Given the description of an element on the screen output the (x, y) to click on. 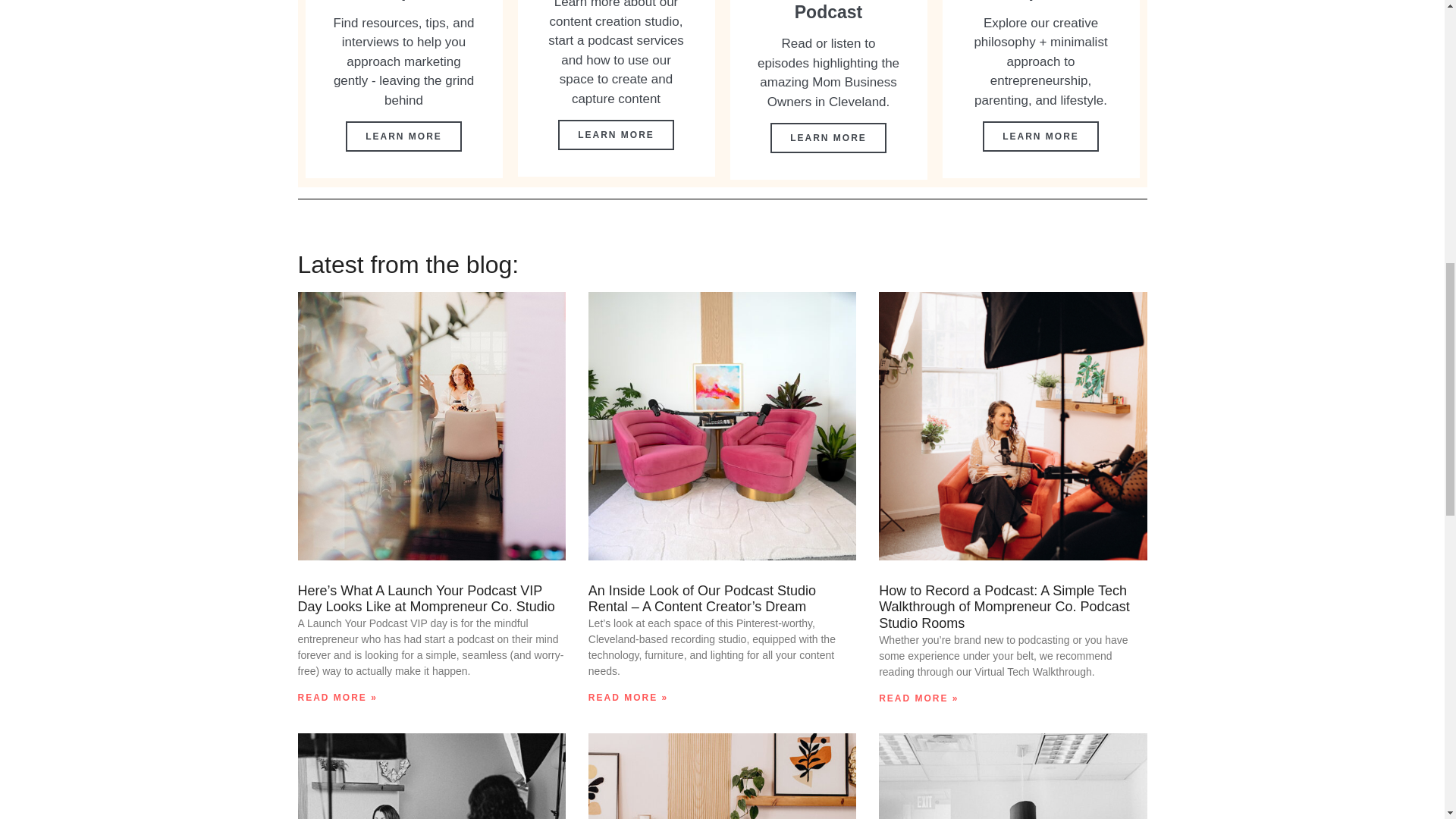
LEARN MORE (1040, 136)
LEARN MORE (403, 136)
LEARN MORE (828, 137)
LEARN MORE (615, 134)
